Given the description of an element on the screen output the (x, y) to click on. 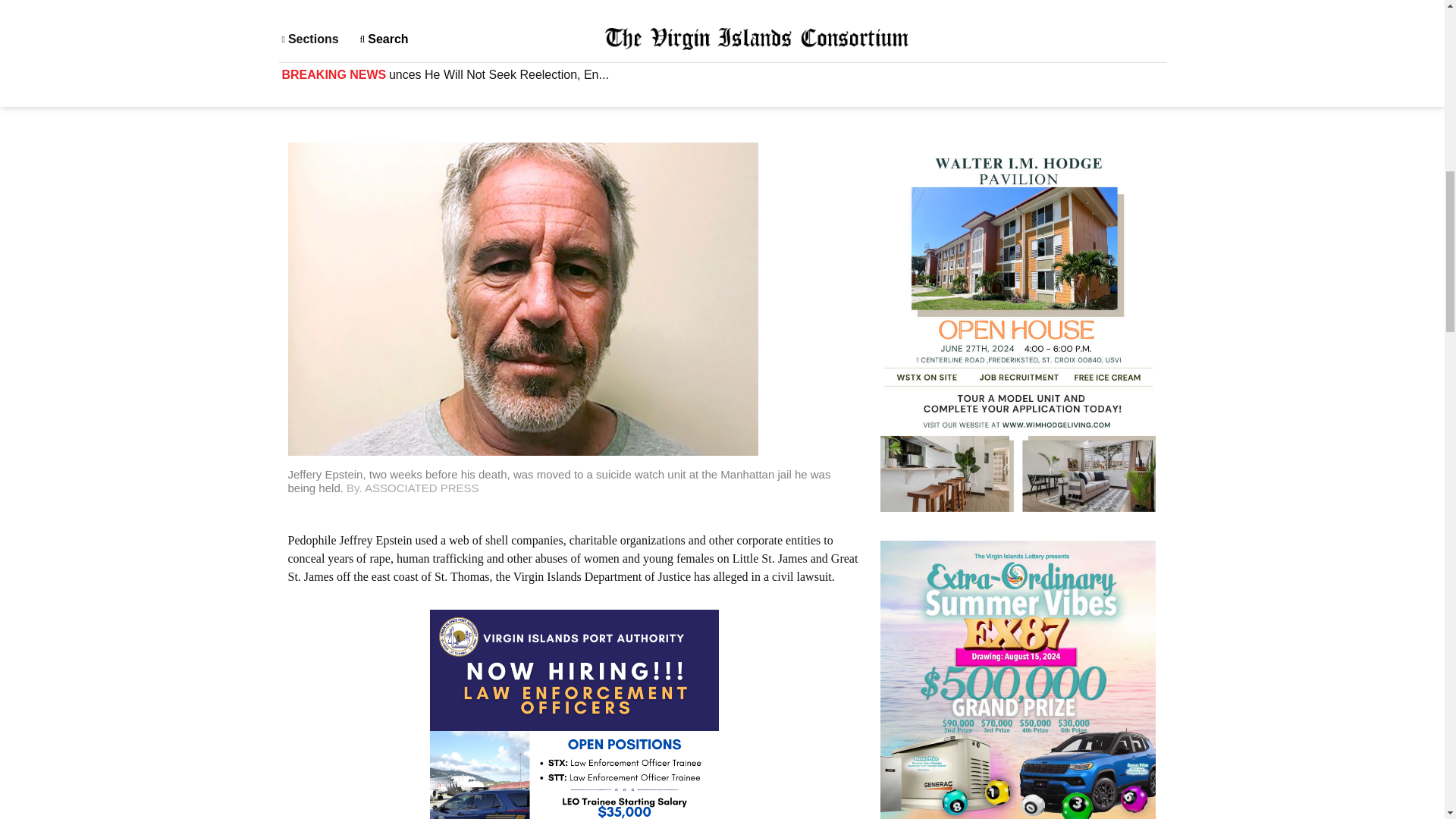
Facebook (1072, 68)
